Given the description of an element on the screen output the (x, y) to click on. 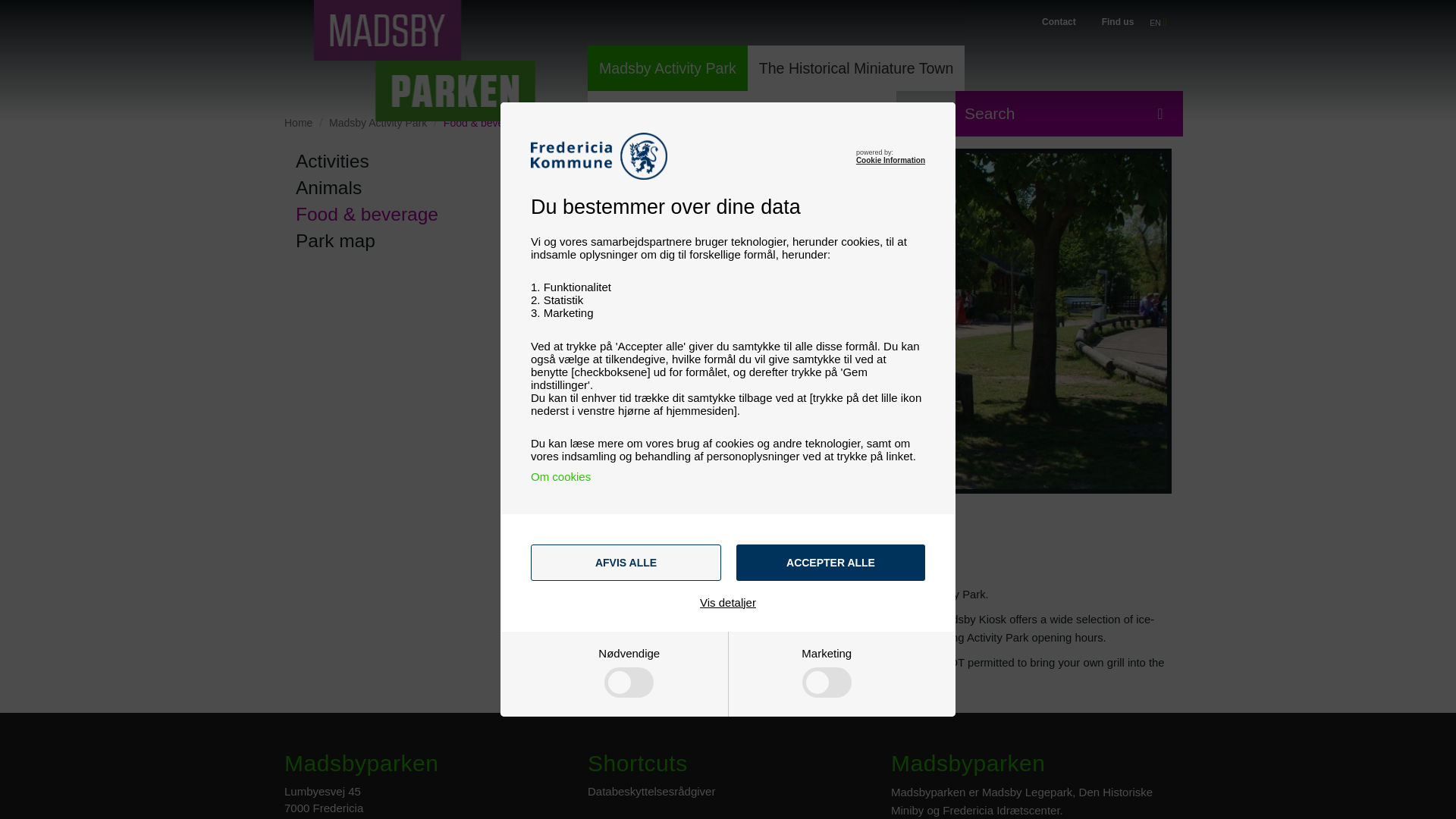
Om cookies (561, 476)
ACCEPTER ALLE (830, 562)
Vis detaljer (727, 602)
AFVIS ALLE (625, 562)
Cookie Information (890, 160)
